Given the description of an element on the screen output the (x, y) to click on. 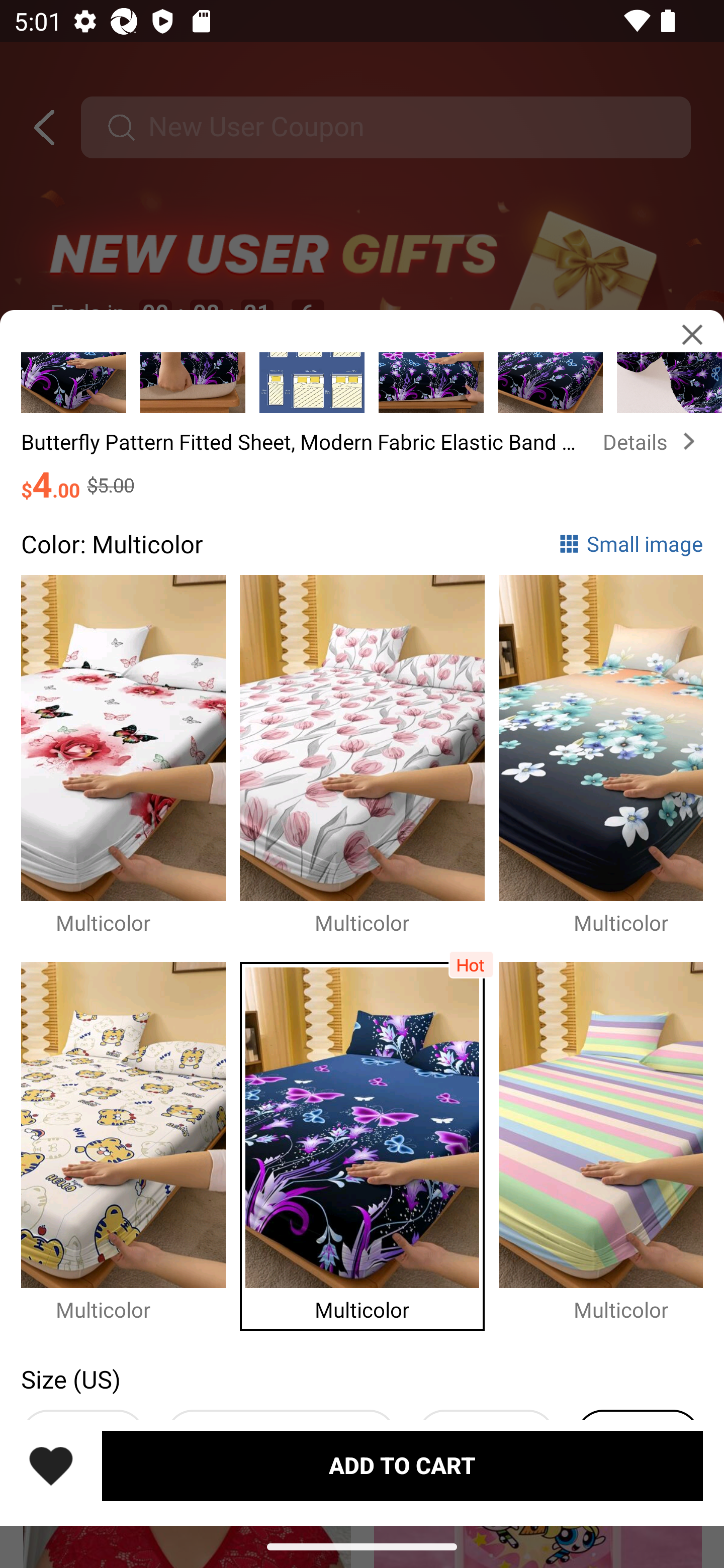
Details (653, 441)
Color: Multicolor (111, 542)
Small image (630, 542)
Multicolor (368, 754)
Multicolor (600, 754)
Multicolor (129, 1141)
Multicolor (368, 1141)
Multicolor (600, 1141)
Size (US) (70, 1378)
ADD TO CART (402, 1465)
Save (50, 1465)
